Given the description of an element on the screen output the (x, y) to click on. 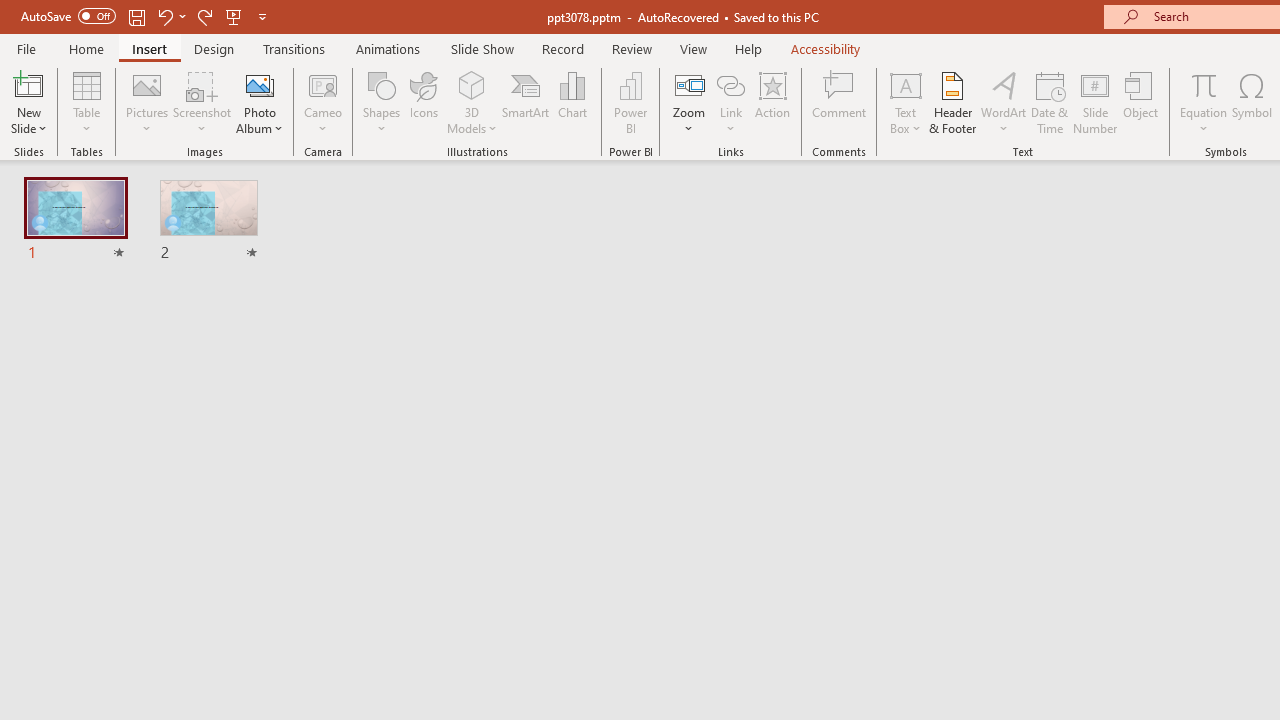
WordArt (1004, 102)
3D Models (472, 102)
Object... (1141, 102)
Action (772, 102)
Transitions (294, 48)
Cameo (323, 84)
